Given the description of an element on the screen output the (x, y) to click on. 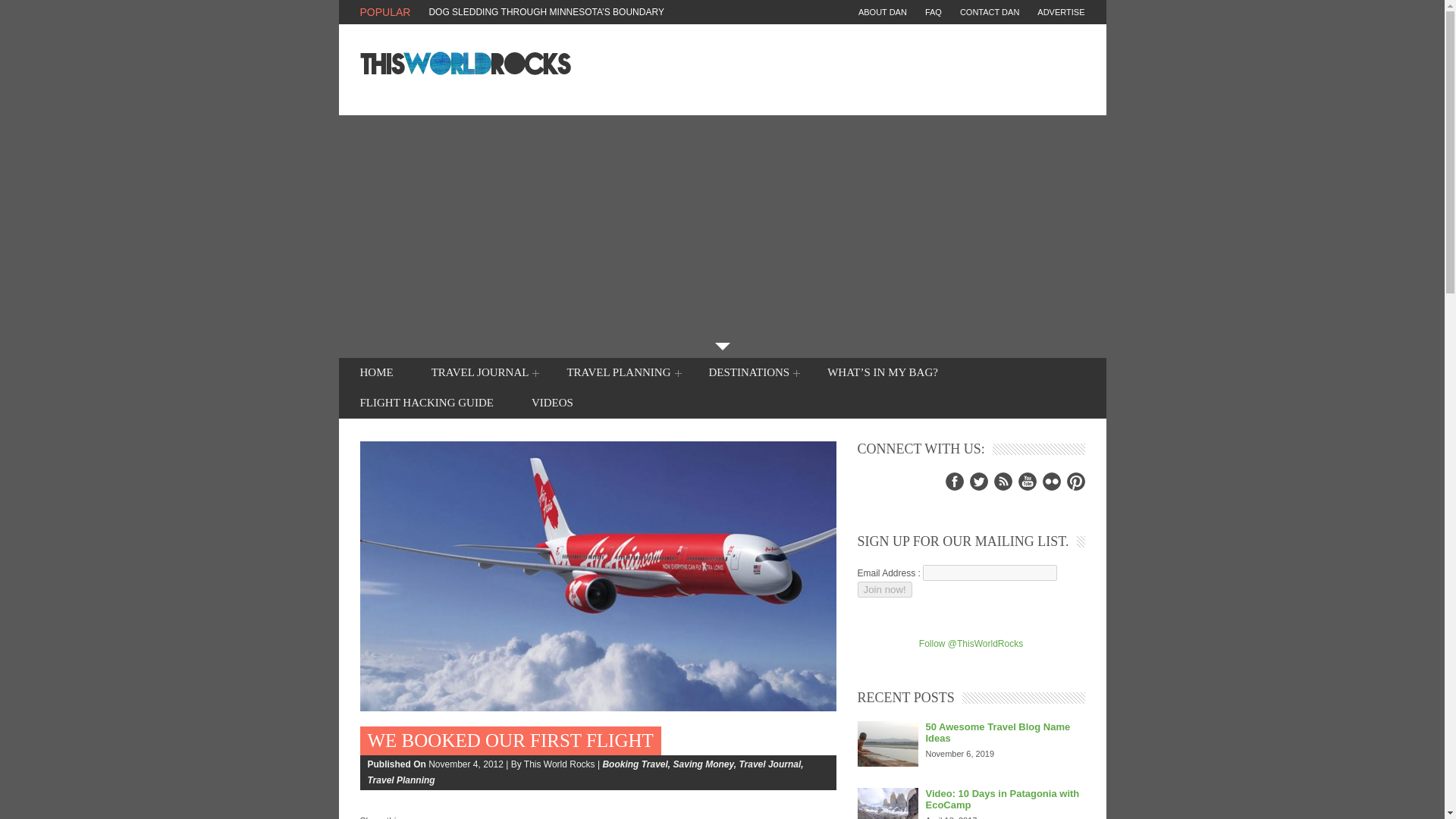
Travel Blog Advertising Options (1051, 12)
Have a question? (980, 12)
Frequently Asked Questions (924, 12)
ADVERTISE (1051, 12)
ABOUT DAN (883, 12)
Join now! (884, 589)
FAQ (924, 12)
CONTACT DAN (980, 12)
Home (376, 372)
HOME (376, 372)
About Dan and This Travel Blog (883, 12)
